Given the description of an element on the screen output the (x, y) to click on. 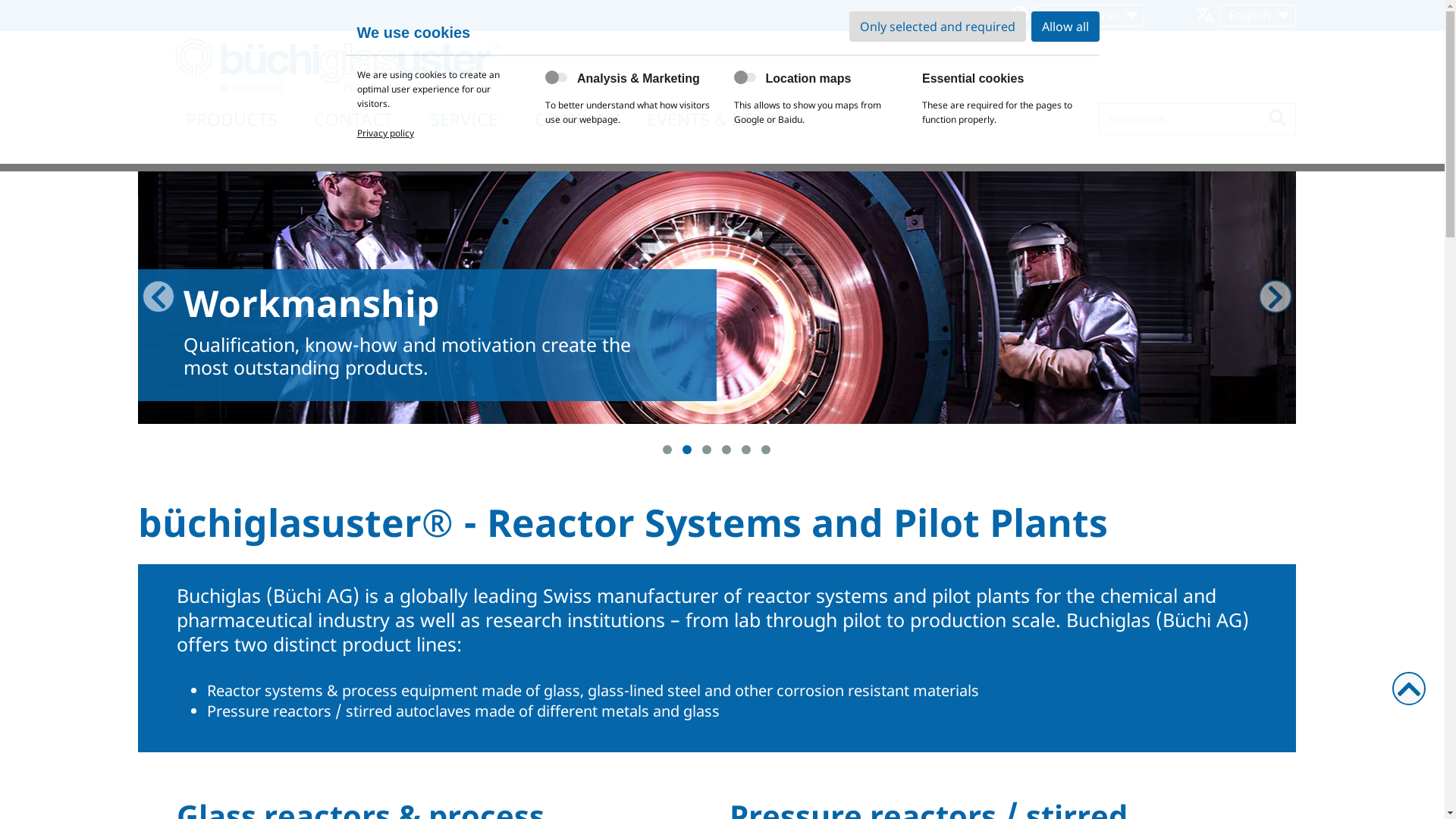
Allow all Element type: text (1065, 26)
PRODUCTS Element type: text (230, 118)
English Element type: text (1257, 14)
Only selected and required Element type: text (937, 26)
International Element type: text (1089, 14)
Buchiglas Element type: hover (336, 66)
CONTACT Element type: text (353, 118)
SERVICE Element type: text (463, 118)
EVENTS & NEWS Element type: text (712, 118)
Privacy policy Element type: text (384, 132)
COMPANY Element type: text (576, 118)
